Given the description of an element on the screen output the (x, y) to click on. 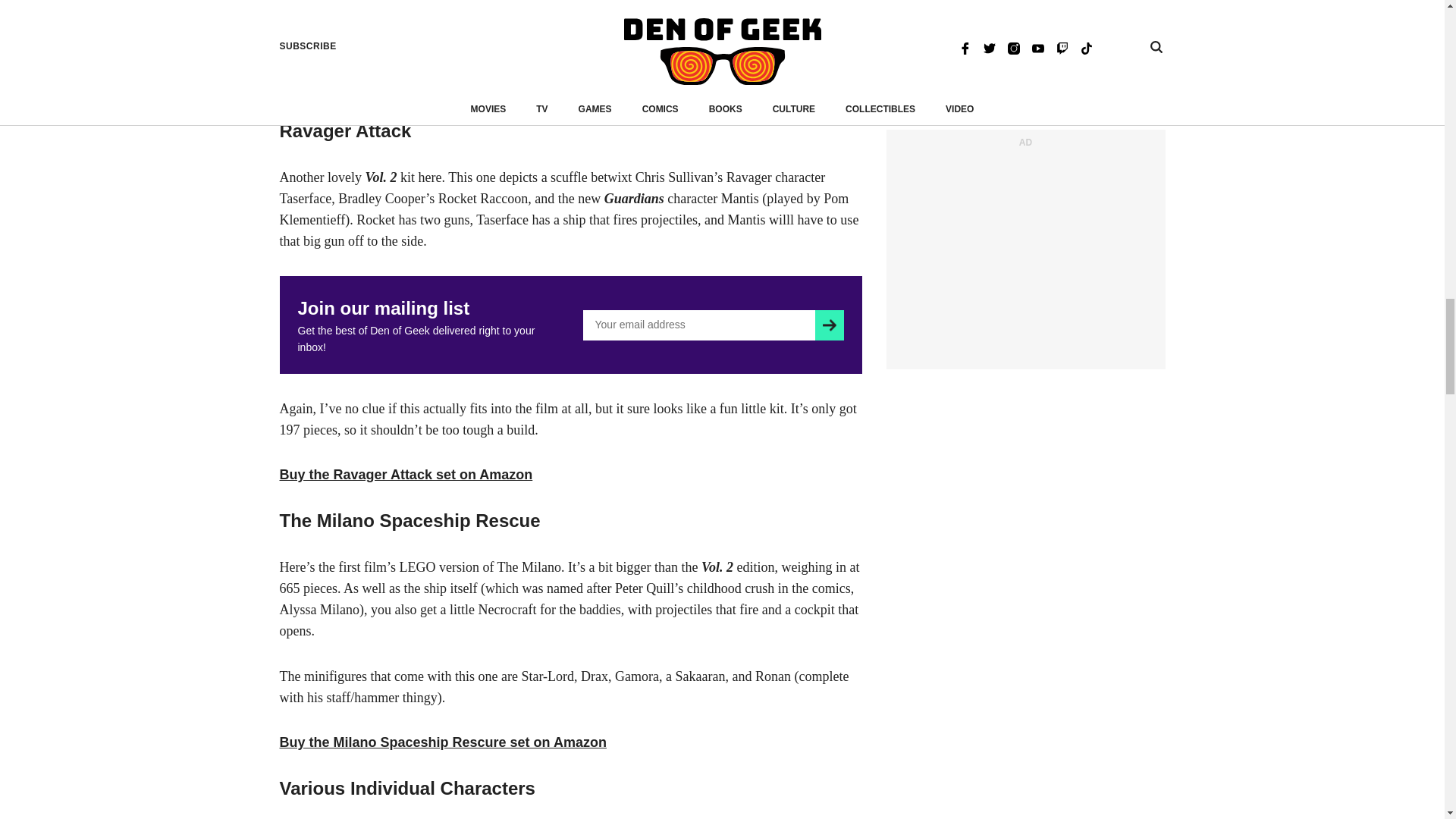
Buy the Milano Spaceship Rescure set on Amazon (442, 742)
Buy the Starblaster Showdown set on Amazon (429, 84)
Subscribe (829, 325)
Buy the Ravager Attack set on Amazon (405, 474)
